Given the description of an element on the screen output the (x, y) to click on. 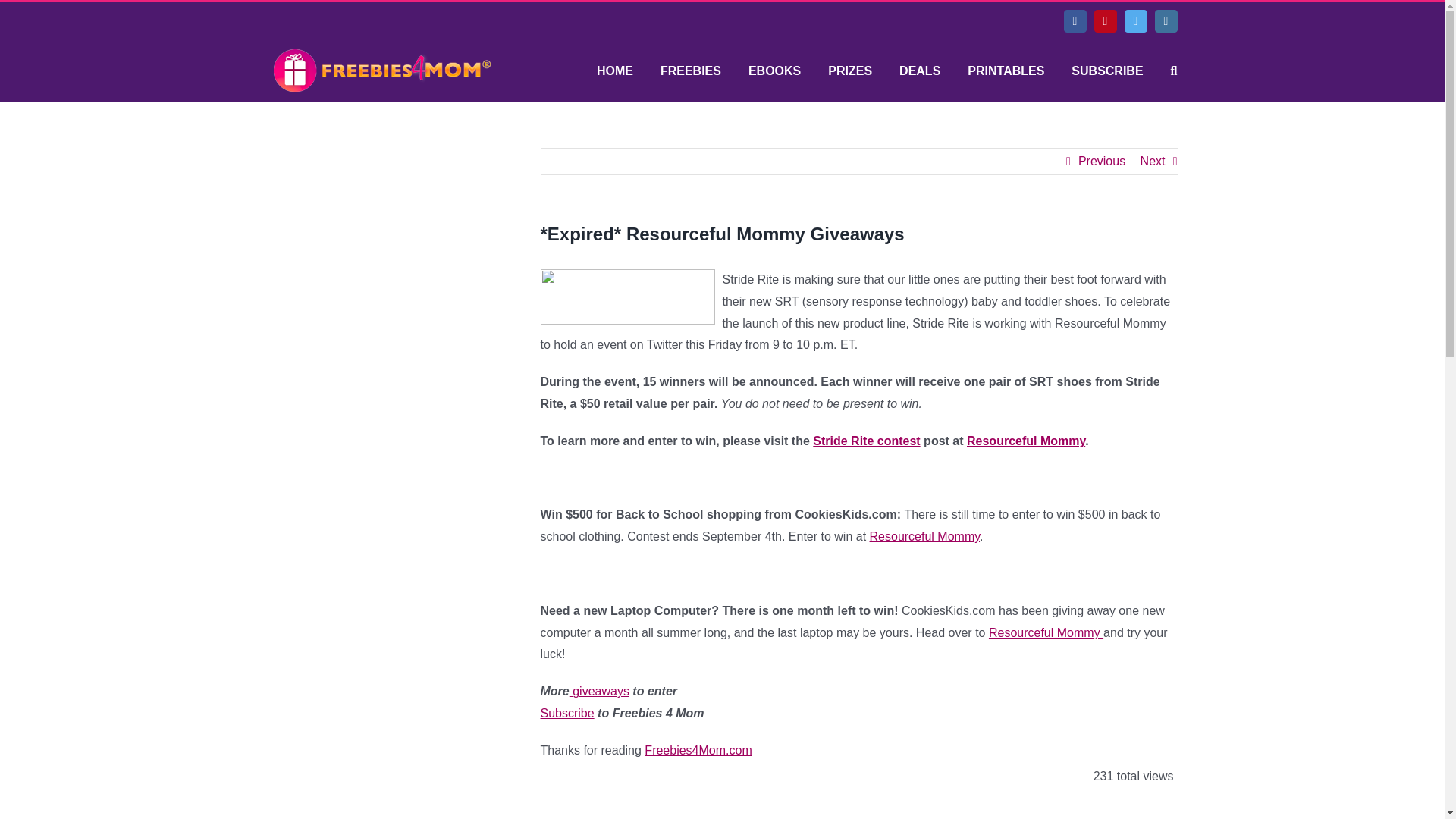
Pinterest (1104, 20)
Facebook (1074, 20)
PRINTABLES (1005, 70)
Twitter (1135, 20)
Instagram (1165, 20)
FREEBIES (690, 70)
